Given the description of an element on the screen output the (x, y) to click on. 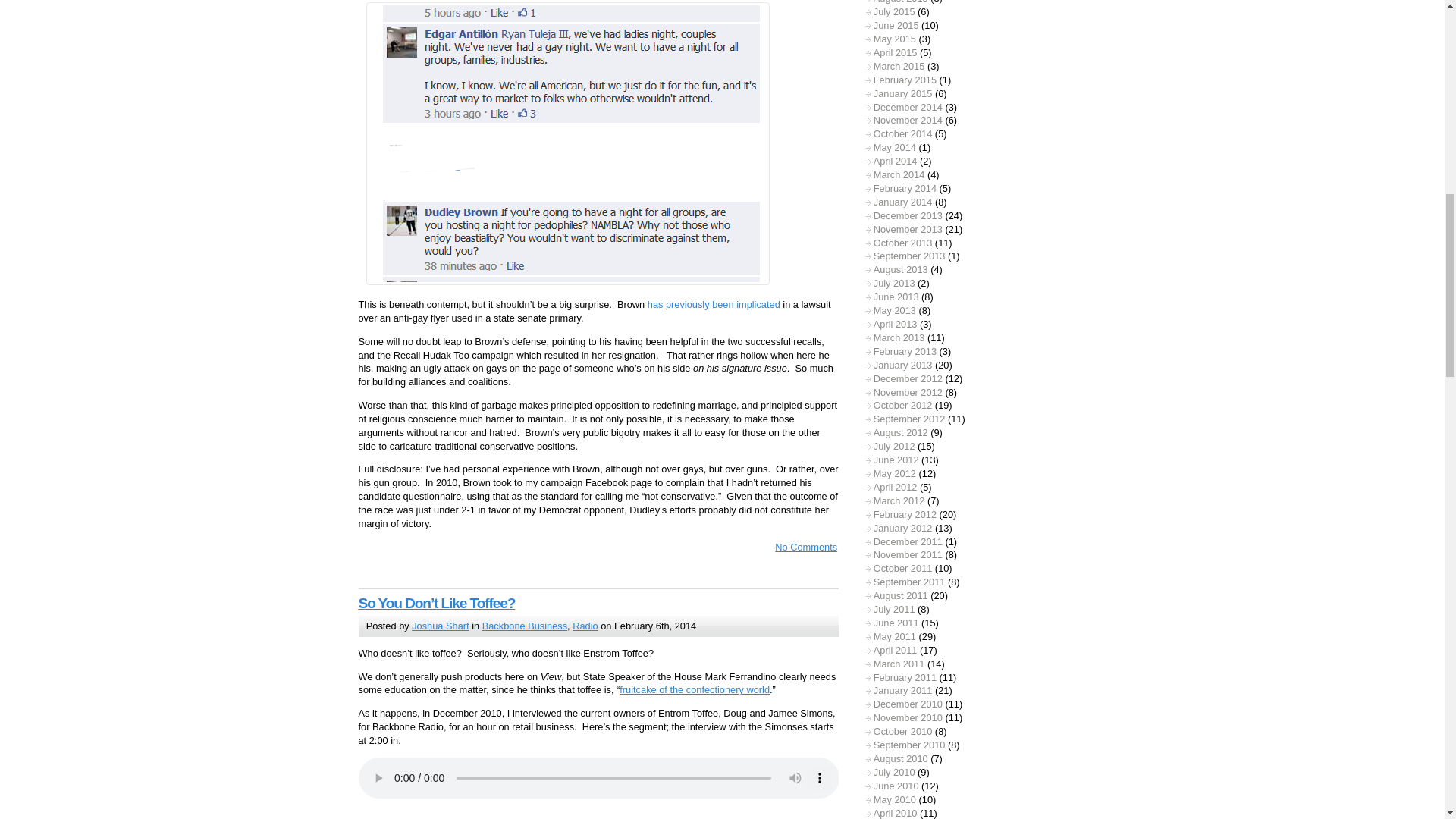
has previously been implicated (713, 304)
Joshua Sharf (440, 625)
Radio (584, 625)
No Comments (799, 546)
Backbone Business (524, 625)
fruitcake of the confectionery world (695, 689)
Posts by Joshua Sharf  (440, 625)
